Given the description of an element on the screen output the (x, y) to click on. 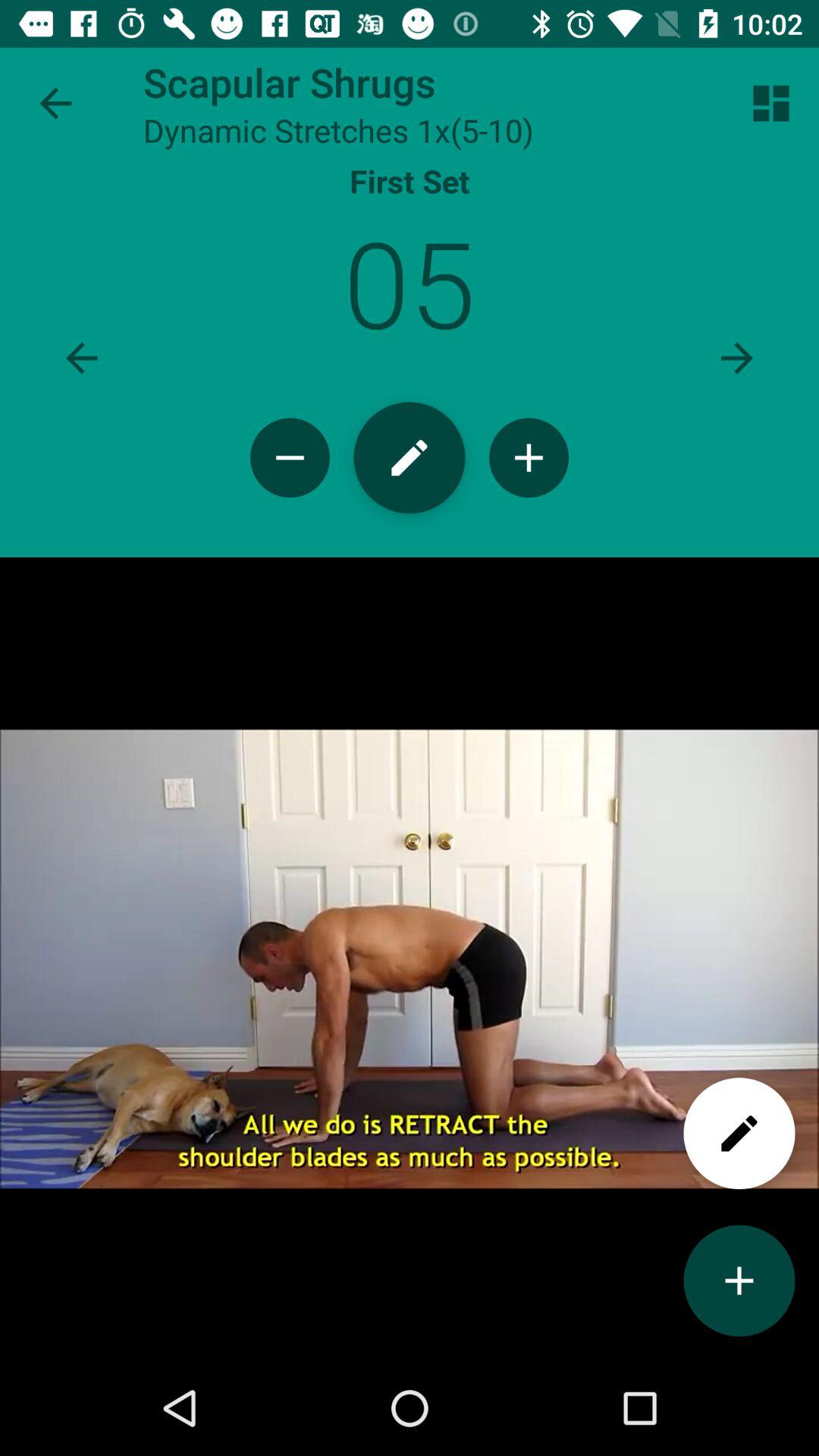
click to edit option (409, 457)
